Given the description of an element on the screen output the (x, y) to click on. 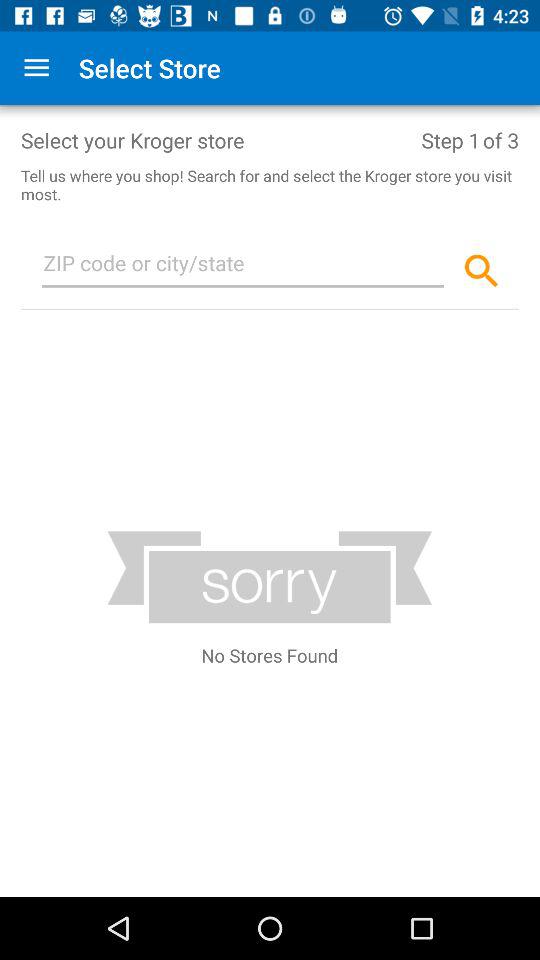
choose the icon to the left of the select store icon (36, 68)
